Given the description of an element on the screen output the (x, y) to click on. 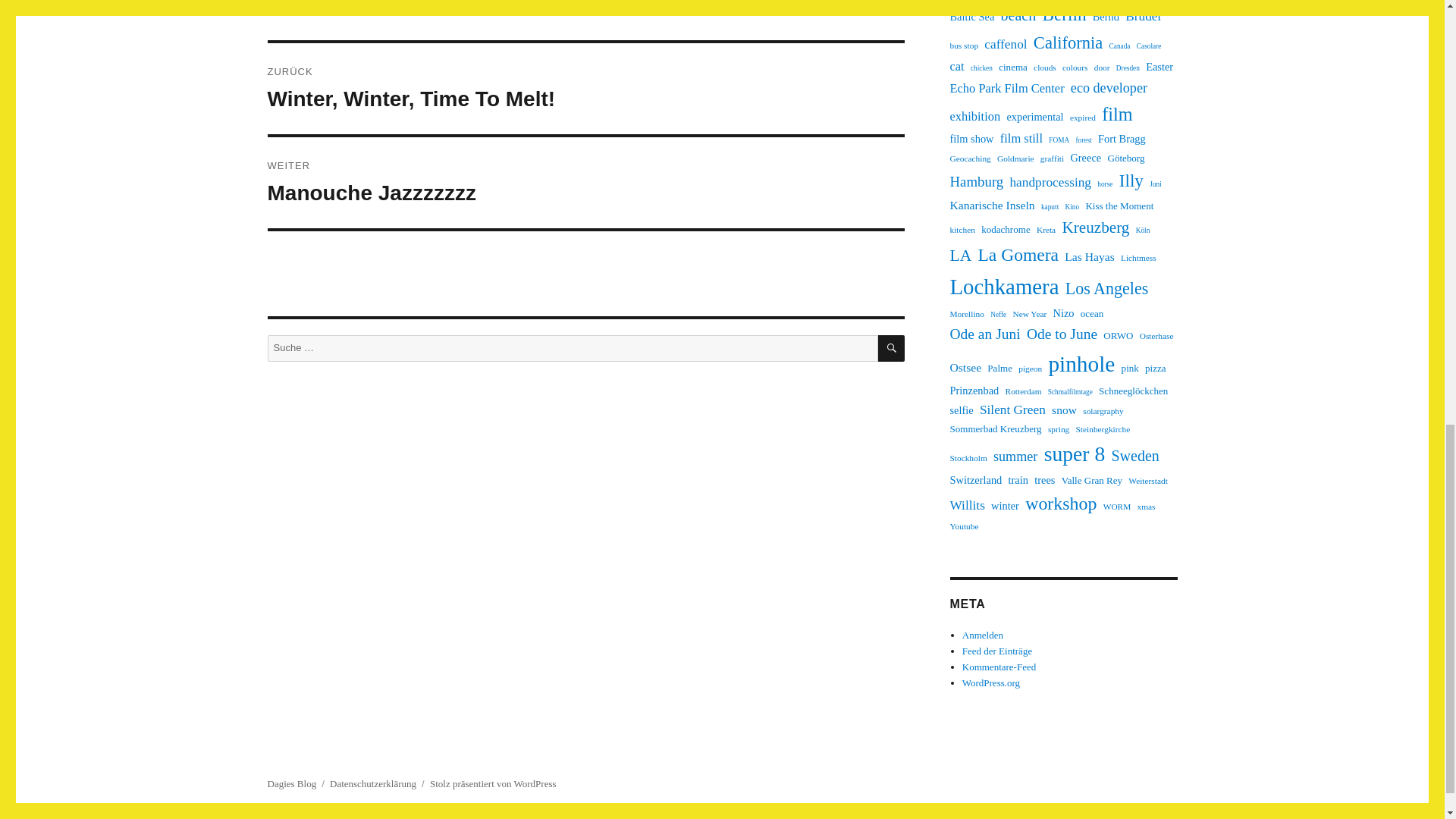
California (1067, 42)
SUCHEN (890, 347)
caffenol (1005, 44)
bus stop (963, 45)
beach (1018, 15)
Baltic Sea (971, 16)
Berlin (1064, 14)
Canada (1120, 46)
Bernd (1106, 16)
Bruder (1143, 16)
